Given the description of an element on the screen output the (x, y) to click on. 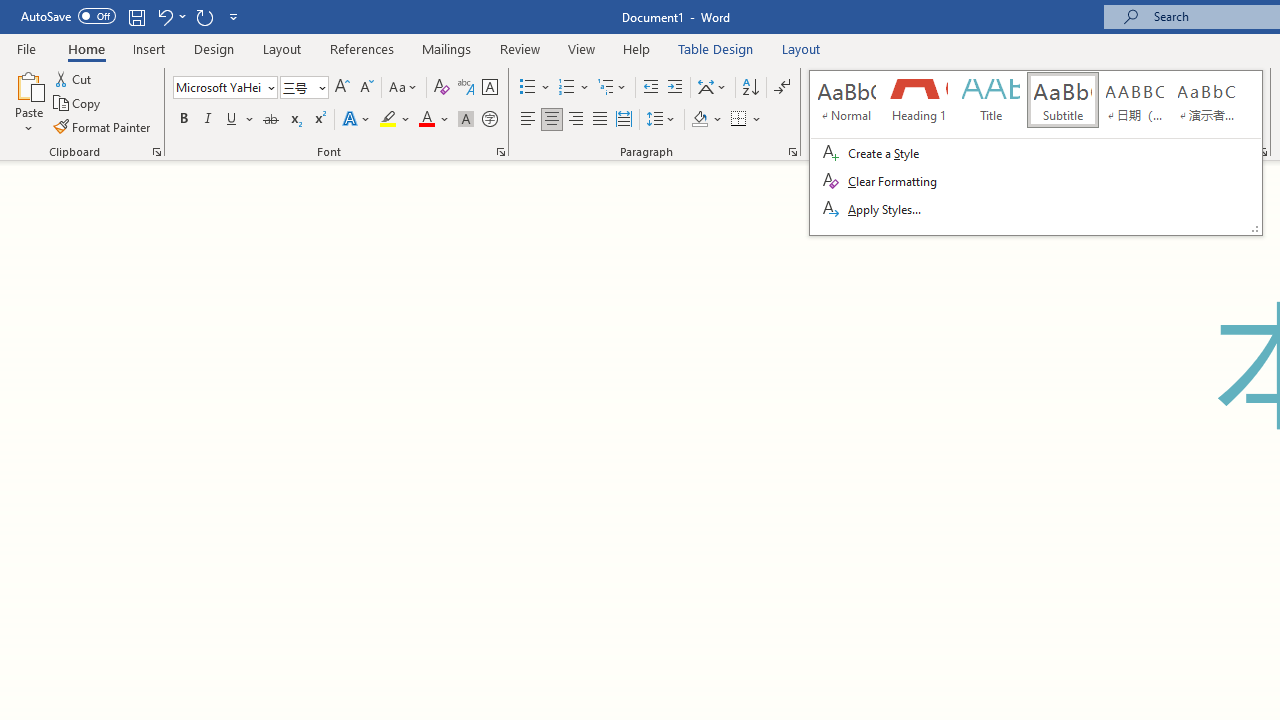
Font Color Red (426, 119)
